Given the description of an element on the screen output the (x, y) to click on. 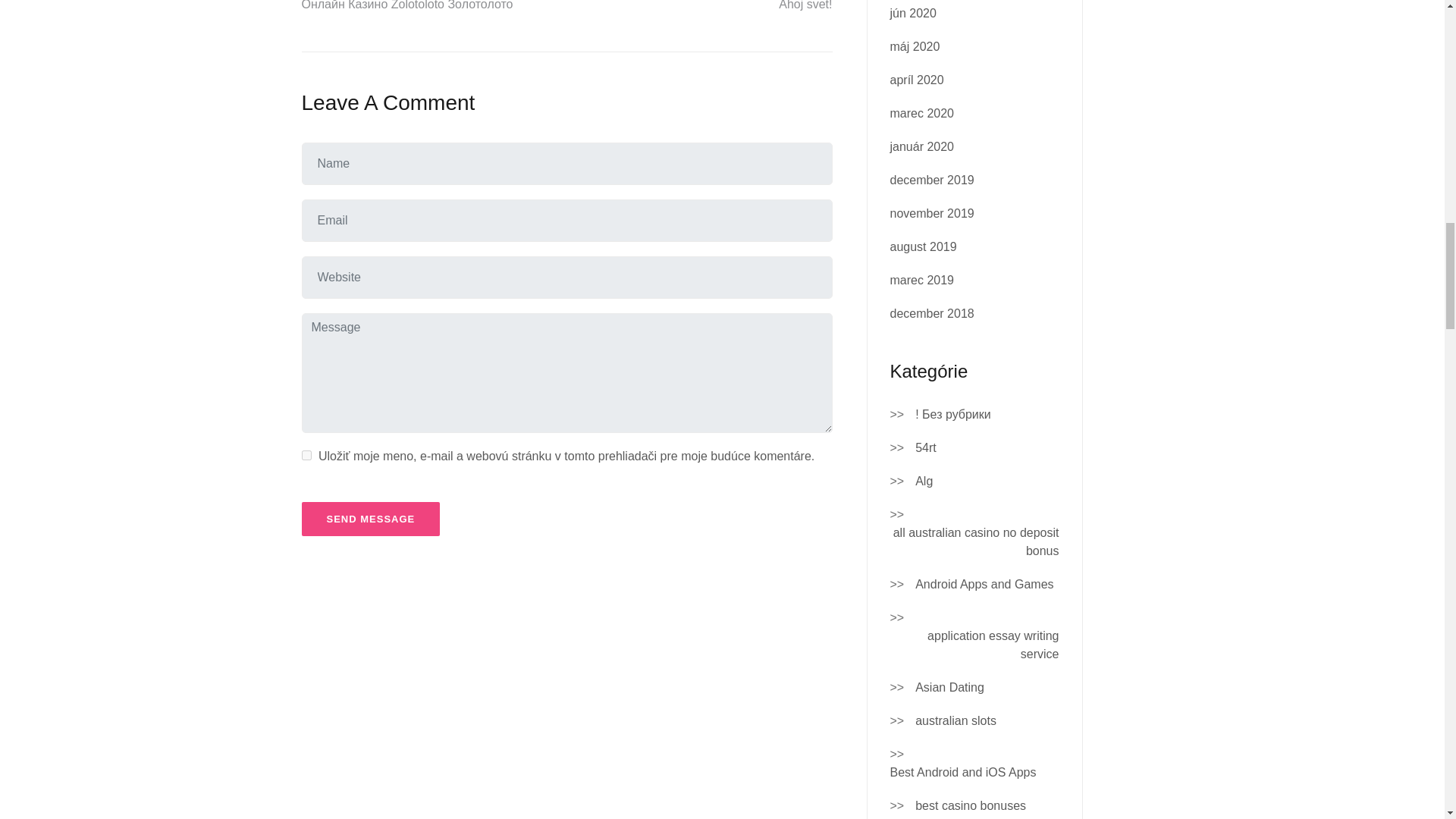
Send message (371, 519)
Ahoj svet! (804, 5)
yes (306, 455)
Send message (371, 519)
